Given the description of an element on the screen output the (x, y) to click on. 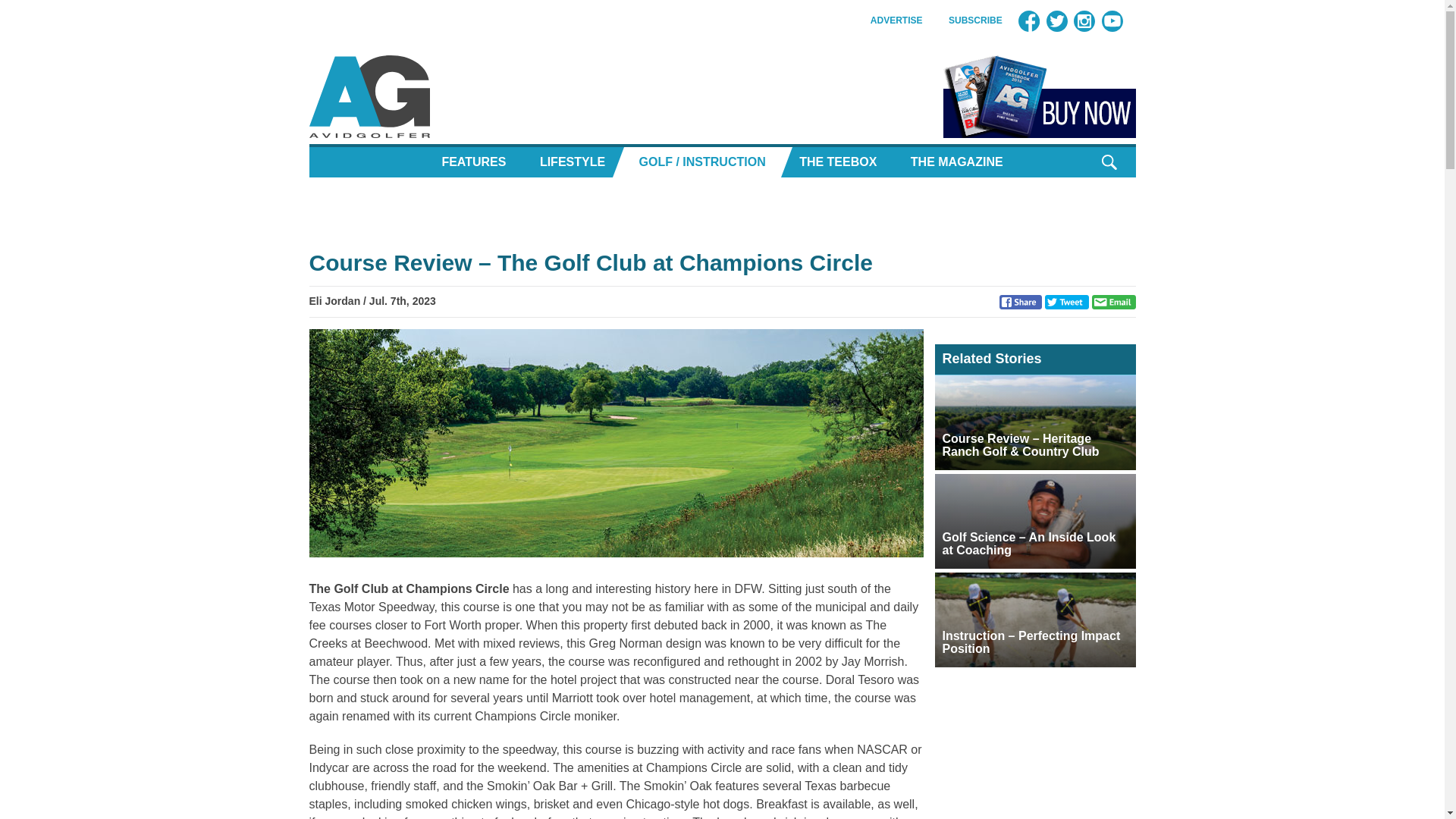
Share on Twitter (1067, 301)
The Magazine (956, 162)
Twitter (1056, 21)
SUBSCRIBE (975, 20)
ADVERTISE (896, 20)
YouTube (1111, 21)
The TeeBox (837, 162)
Share on Facebook (1020, 301)
Instagram (1083, 21)
Share with a friend (1113, 301)
THE TEEBOX (837, 162)
Lifestyle (572, 162)
FEATURES (473, 162)
Features (473, 162)
THE MAGAZINE (956, 162)
